Given the description of an element on the screen output the (x, y) to click on. 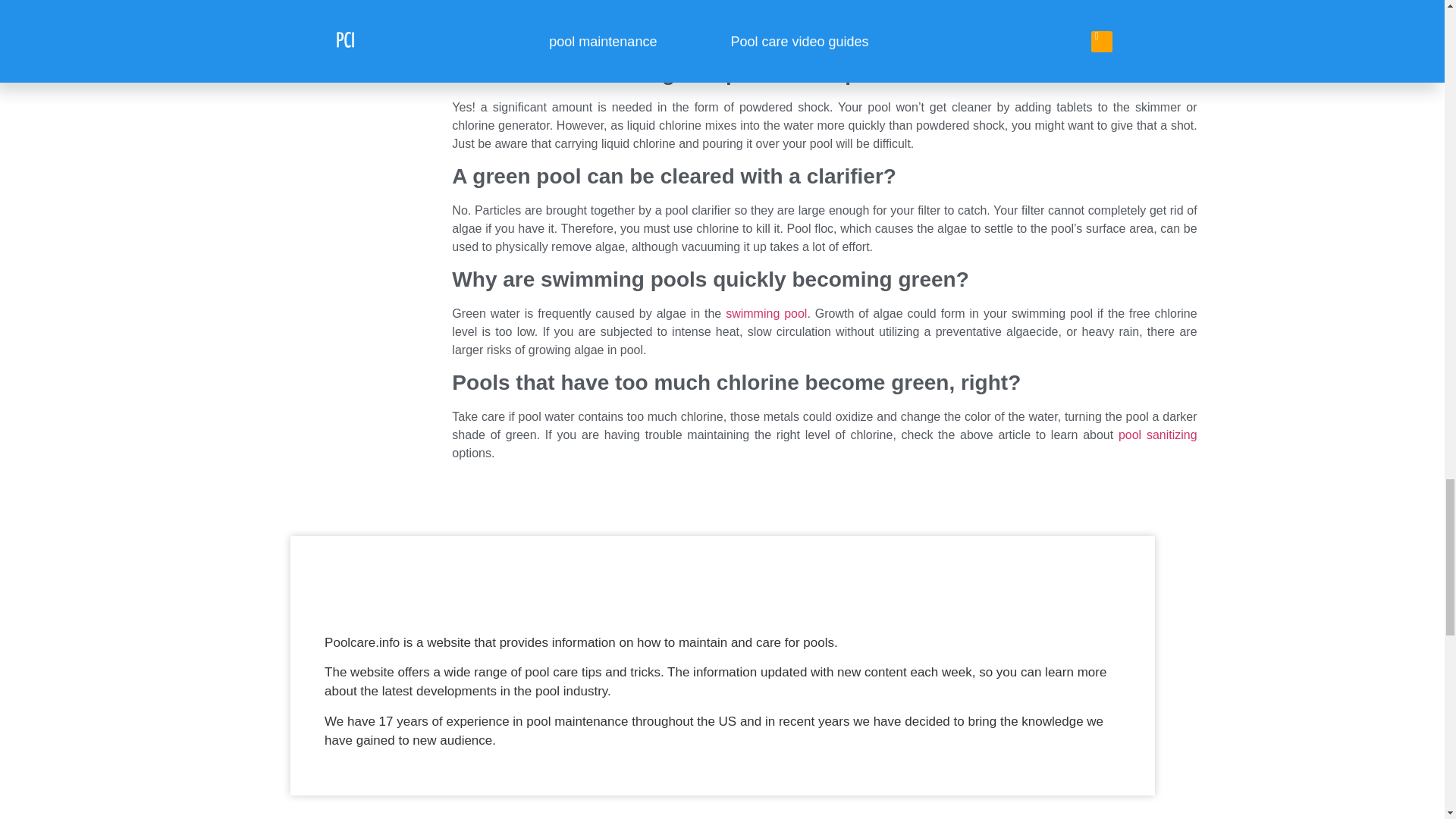
pool sanitizing (1154, 434)
swimming pool (765, 313)
